Given the description of an element on the screen output the (x, y) to click on. 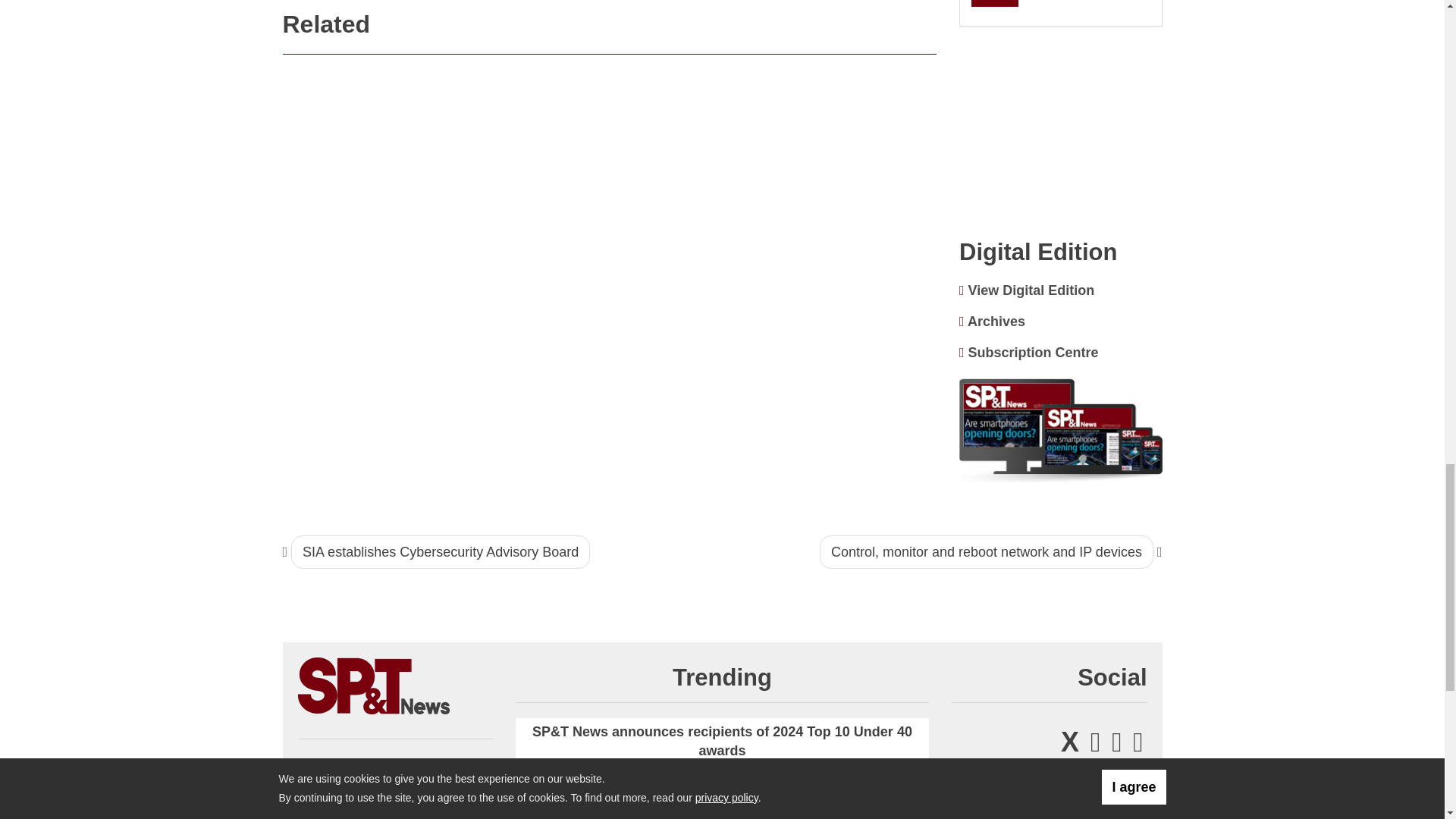
Vote (994, 3)
3rd party ad content (1060, 133)
